Given the description of an element on the screen output the (x, y) to click on. 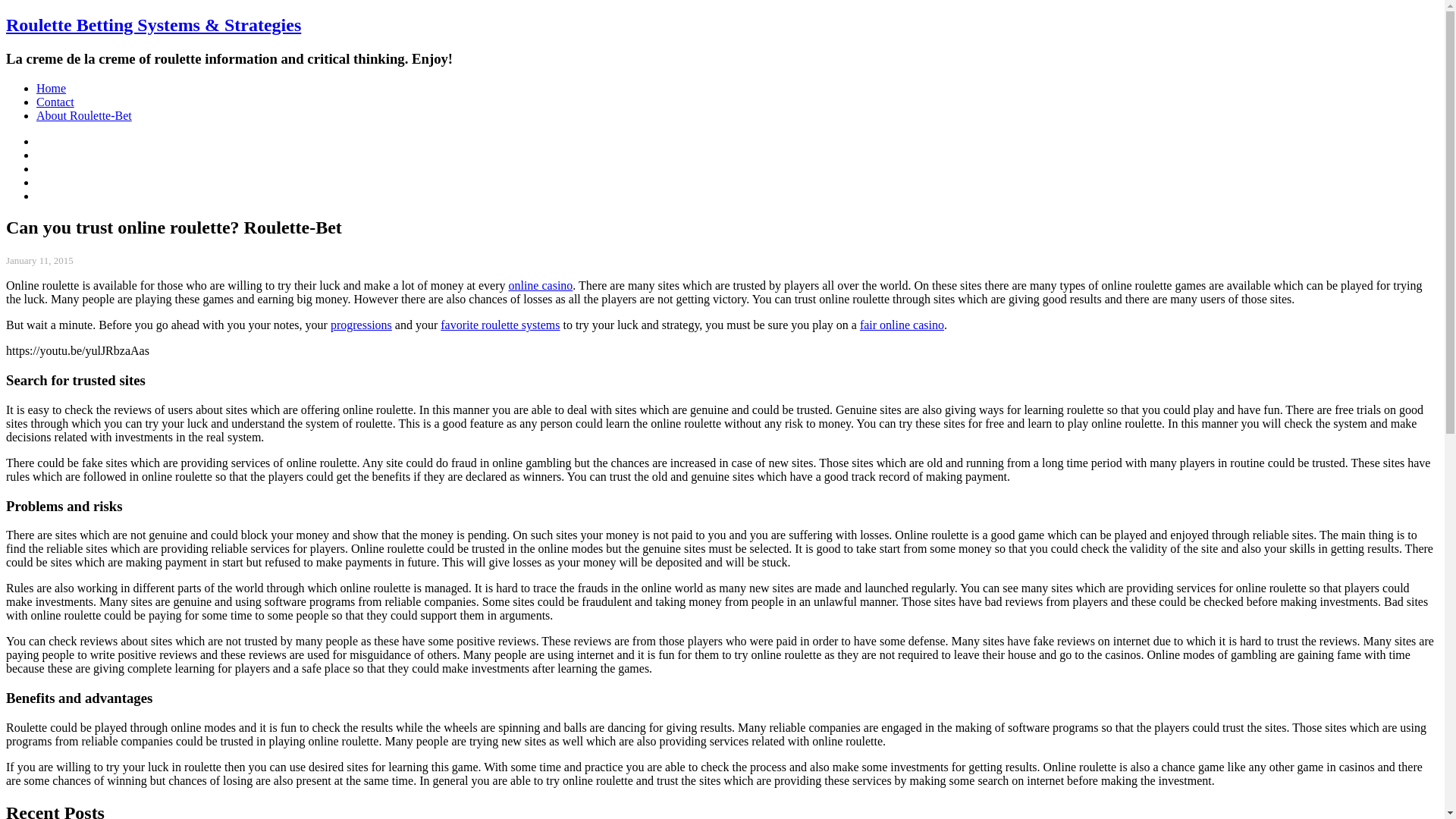
favorite roulette systems (500, 324)
online casino (540, 285)
Home (50, 88)
progressions (360, 324)
About Roulette-Bet (84, 115)
Contact (55, 101)
fair online casino (901, 324)
